Given the description of an element on the screen output the (x, y) to click on. 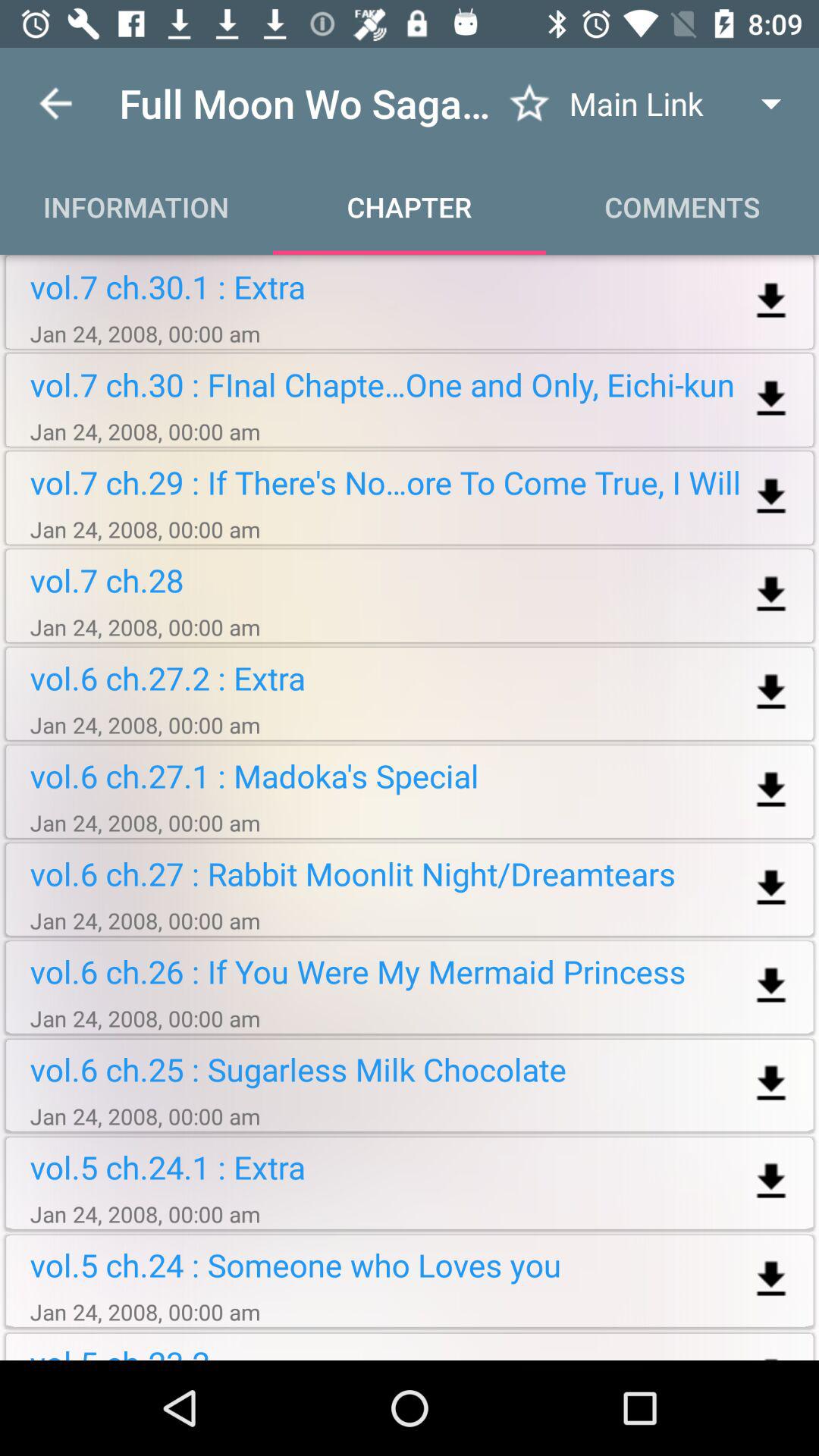
download selected (771, 496)
